Given the description of an element on the screen output the (x, y) to click on. 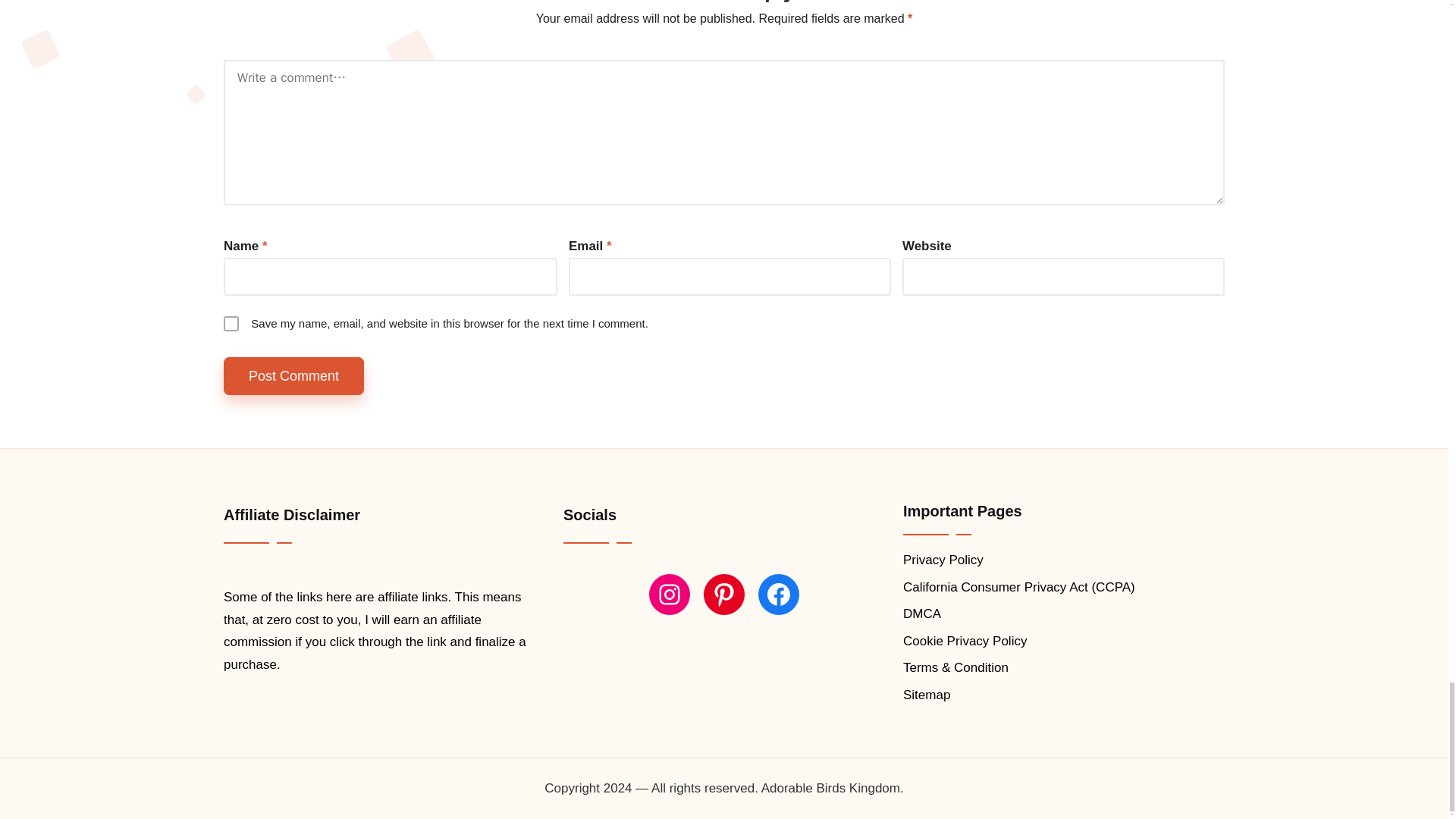
yes (231, 323)
Post Comment (294, 376)
